Given the description of an element on the screen output the (x, y) to click on. 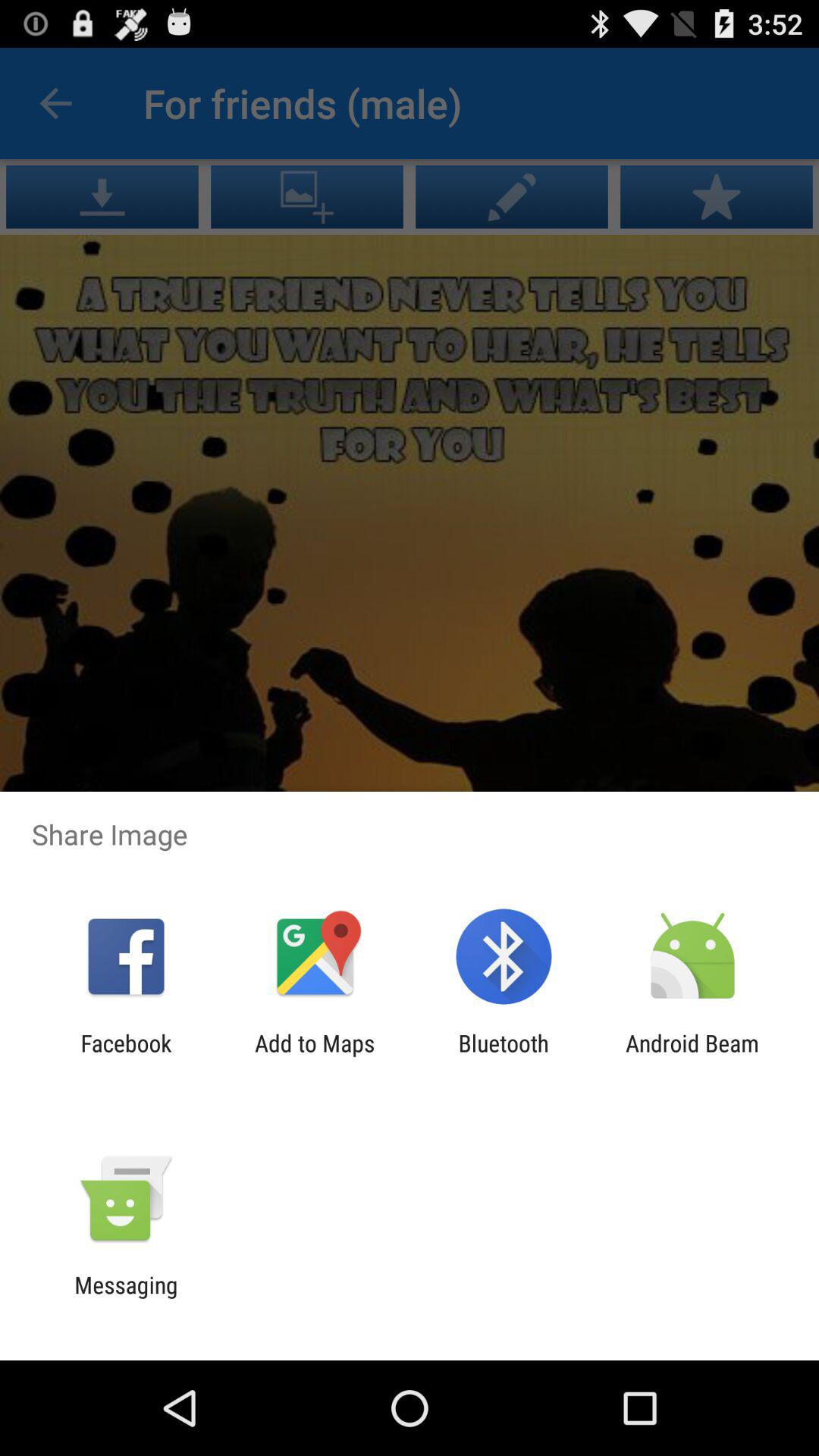
press bluetooth item (503, 1056)
